Given the description of an element on the screen output the (x, y) to click on. 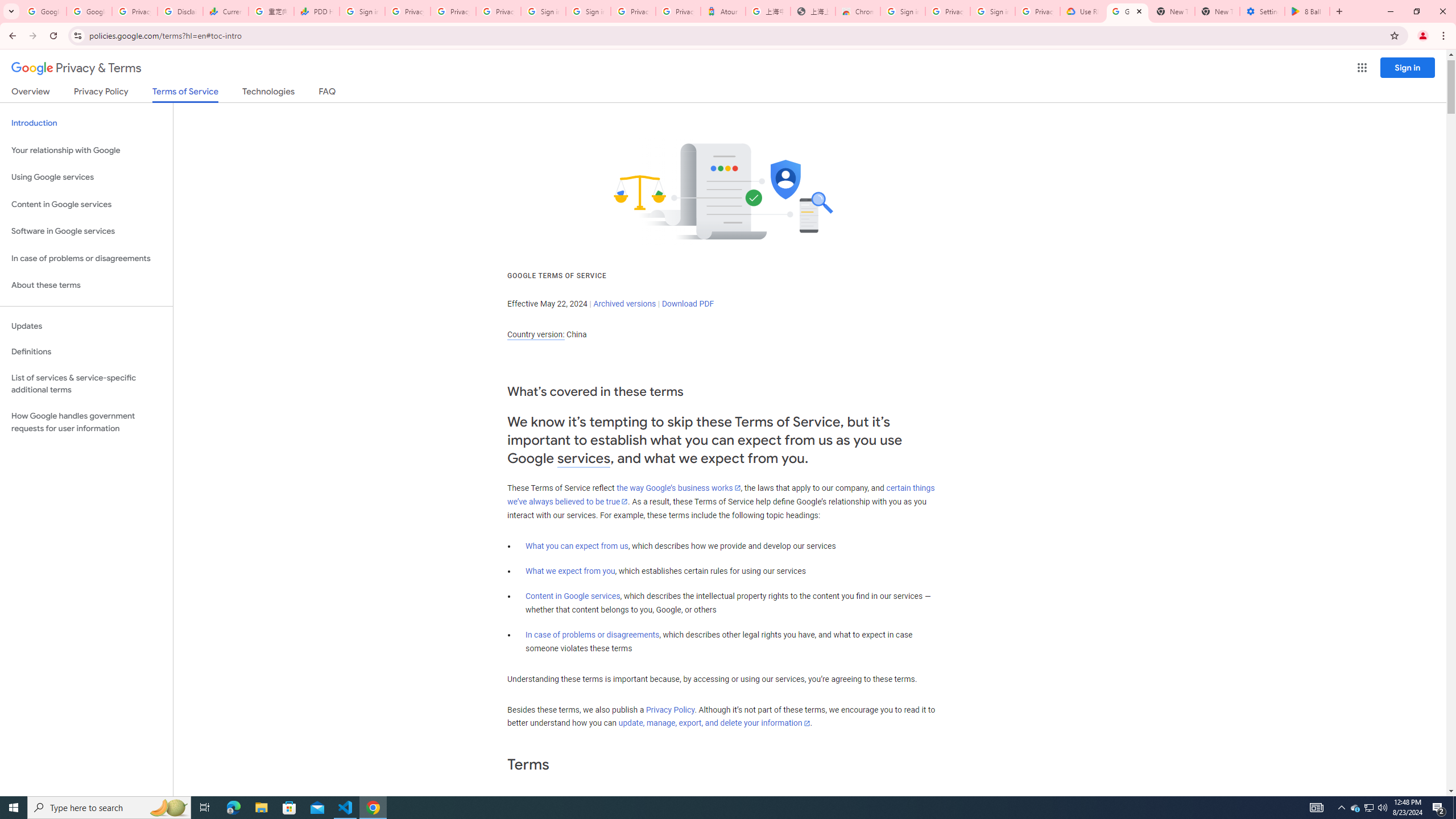
Sign in - Google Accounts (362, 11)
Privacy Checkup (452, 11)
Google Workspace Admin Community (43, 11)
Sign in - Google Accounts (902, 11)
What you can expect from us (576, 545)
